Given the description of an element on the screen output the (x, y) to click on. 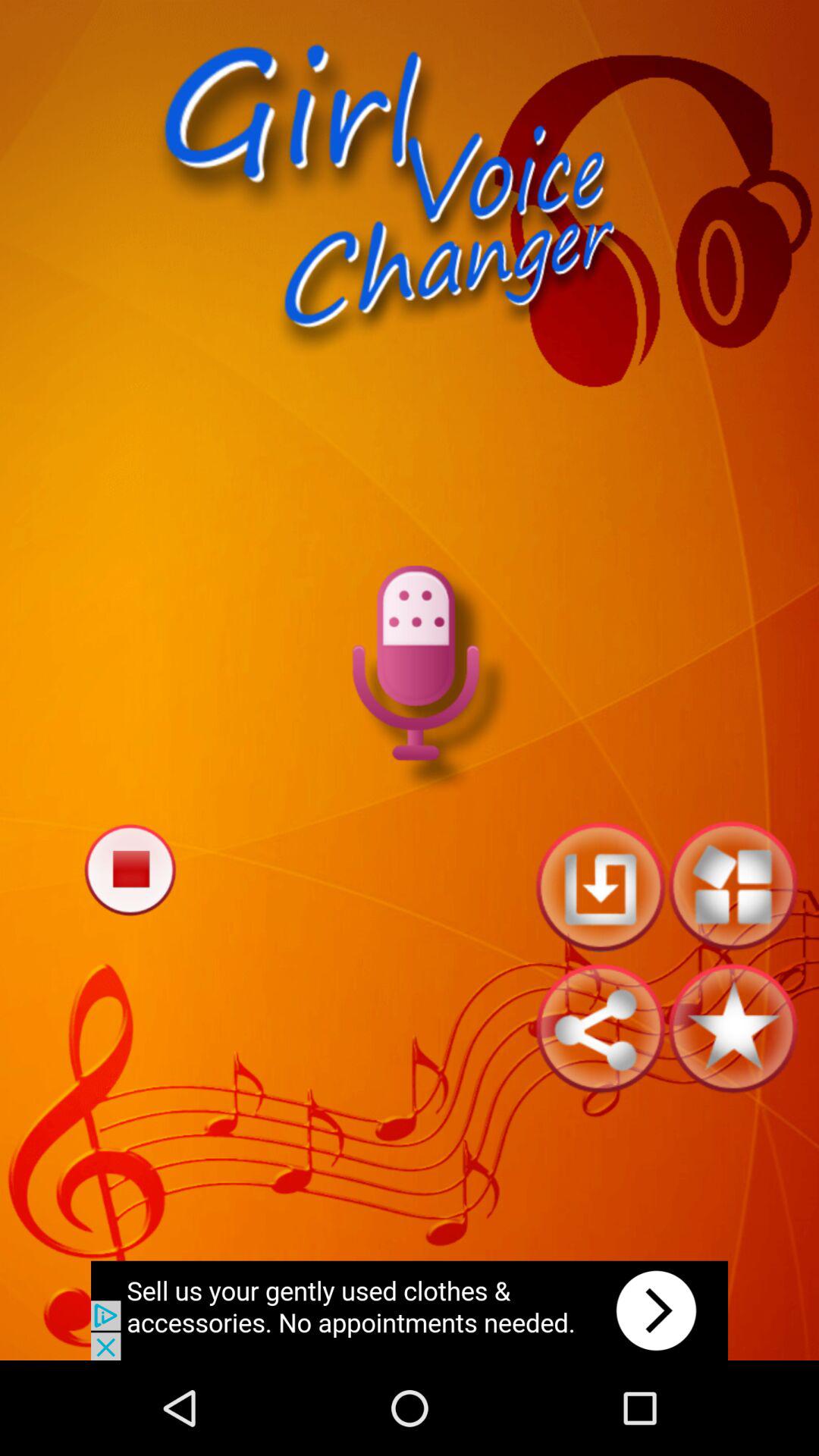
record voice (409, 679)
